Given the description of an element on the screen output the (x, y) to click on. 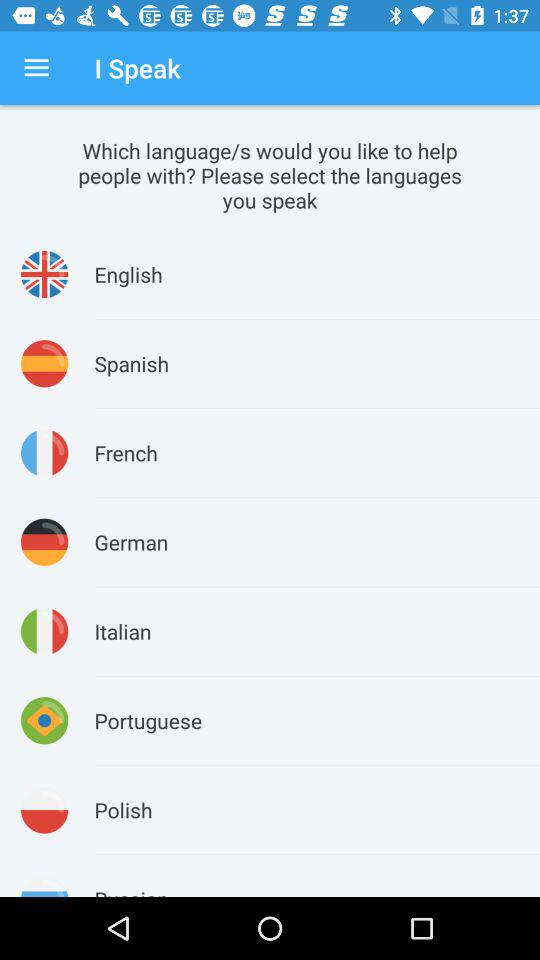
select item above which language s (36, 68)
